Given the description of an element on the screen output the (x, y) to click on. 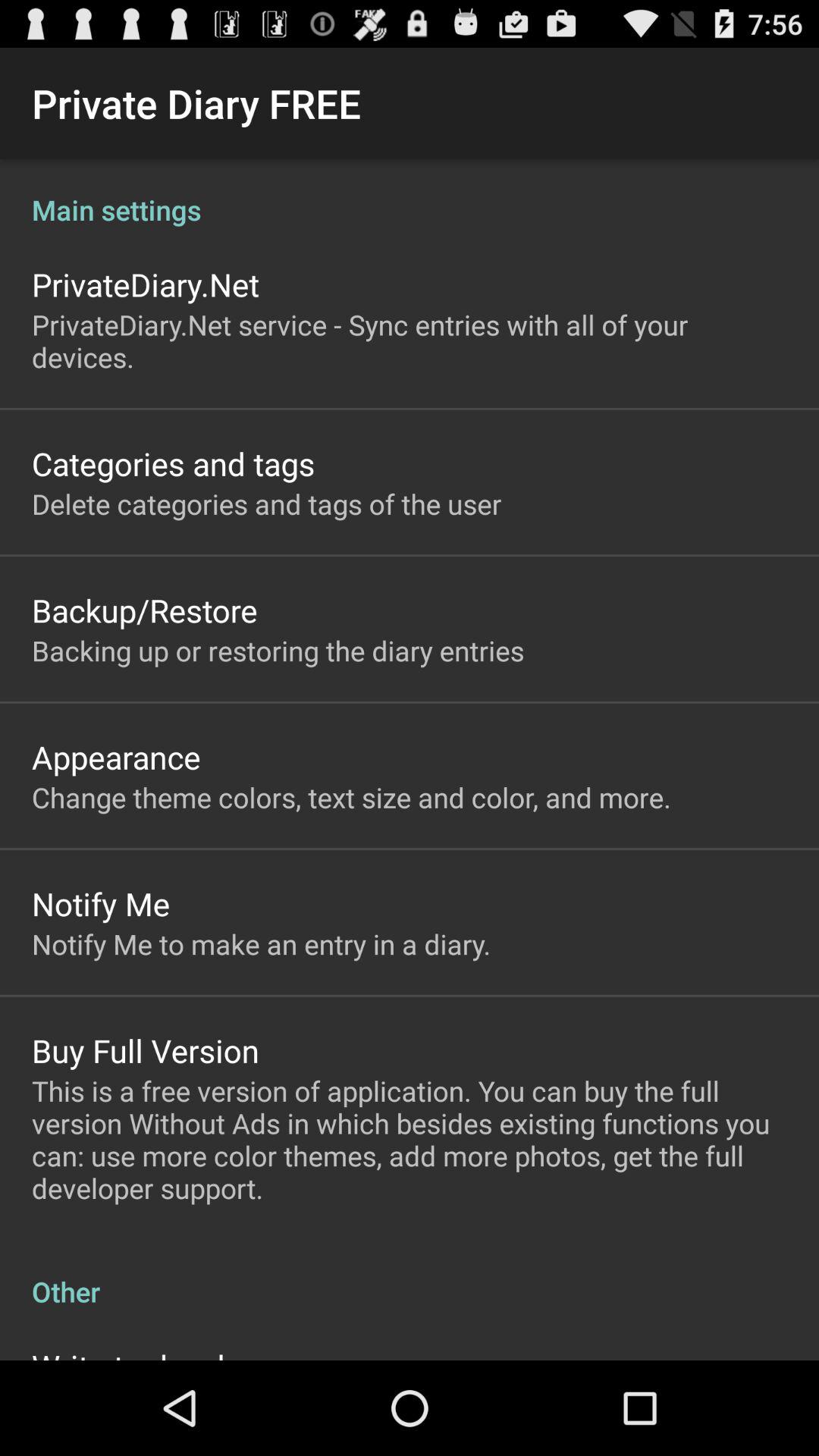
turn off the icon below the buy full version (409, 1139)
